Given the description of an element on the screen output the (x, y) to click on. 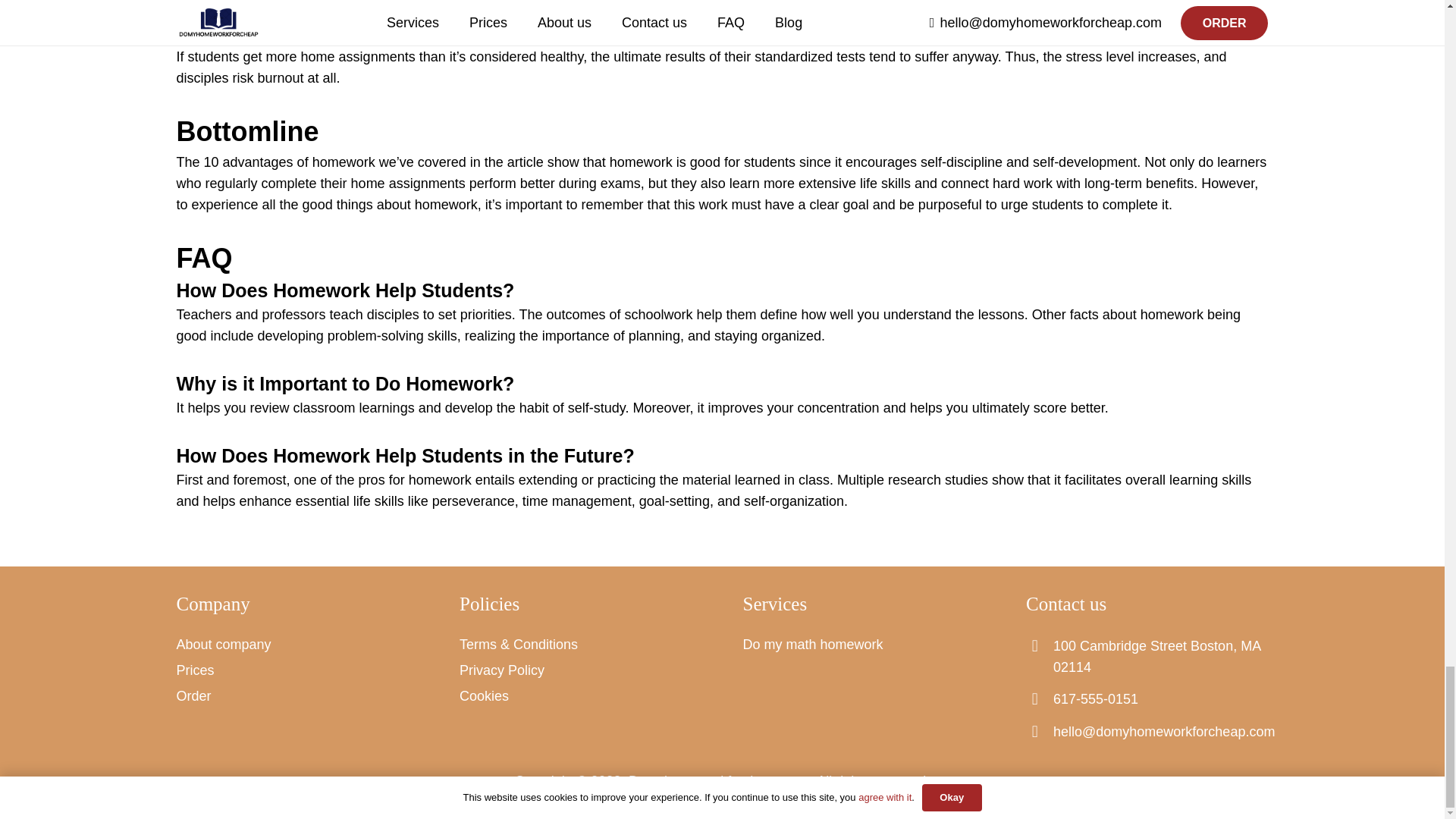
Do my math homework (812, 644)
Cookies (484, 695)
About company (223, 644)
Prices (195, 670)
Privacy Policy (502, 670)
Order (193, 695)
